Given the description of an element on the screen output the (x, y) to click on. 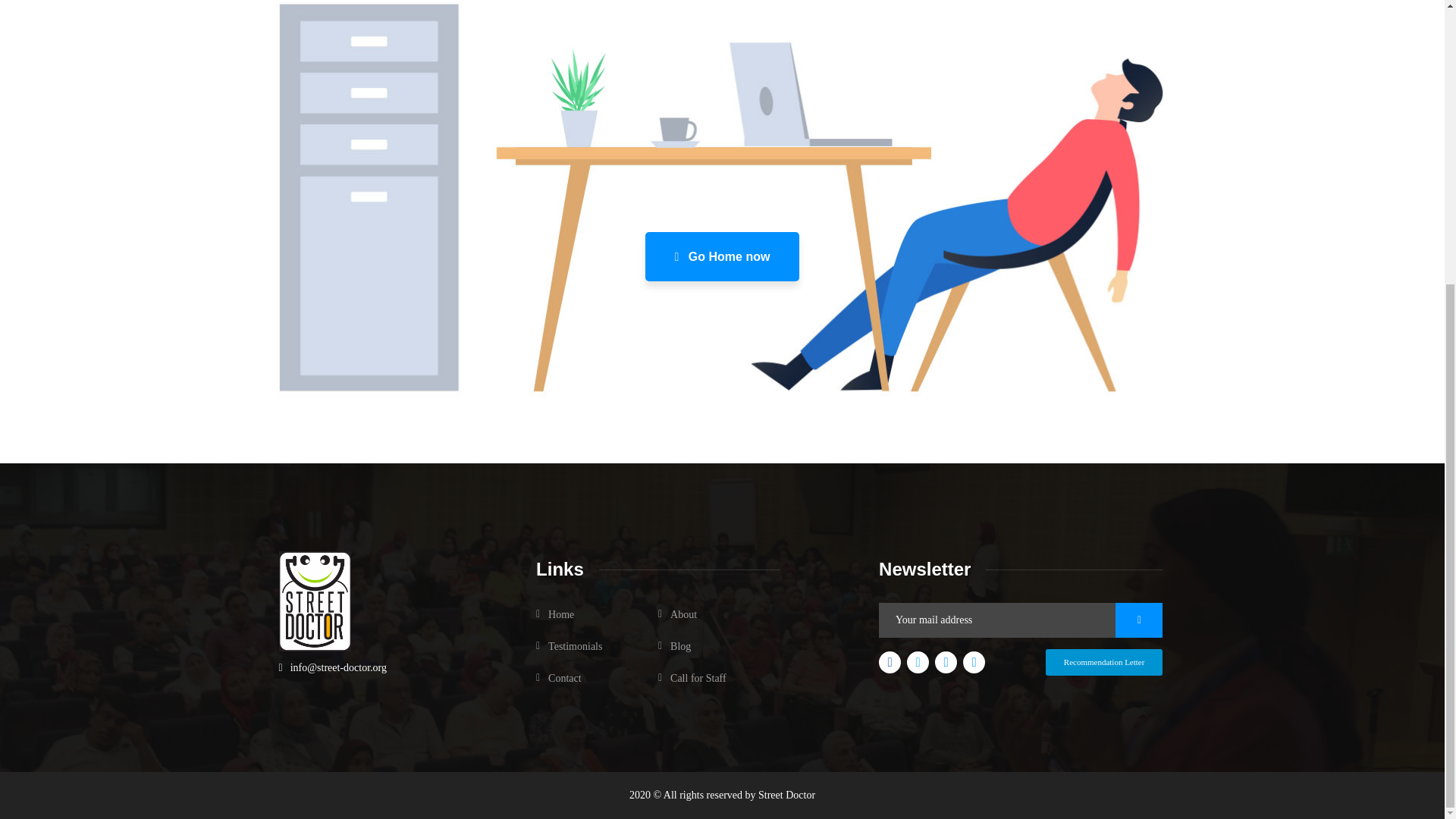
About (677, 614)
Call for Staff (692, 677)
Subscribe (1138, 620)
Go Home now (722, 256)
Testimonials (568, 645)
Home (554, 614)
Recommendation Letter (1104, 662)
Blog (674, 645)
Contact (557, 677)
